Given the description of an element on the screen output the (x, y) to click on. 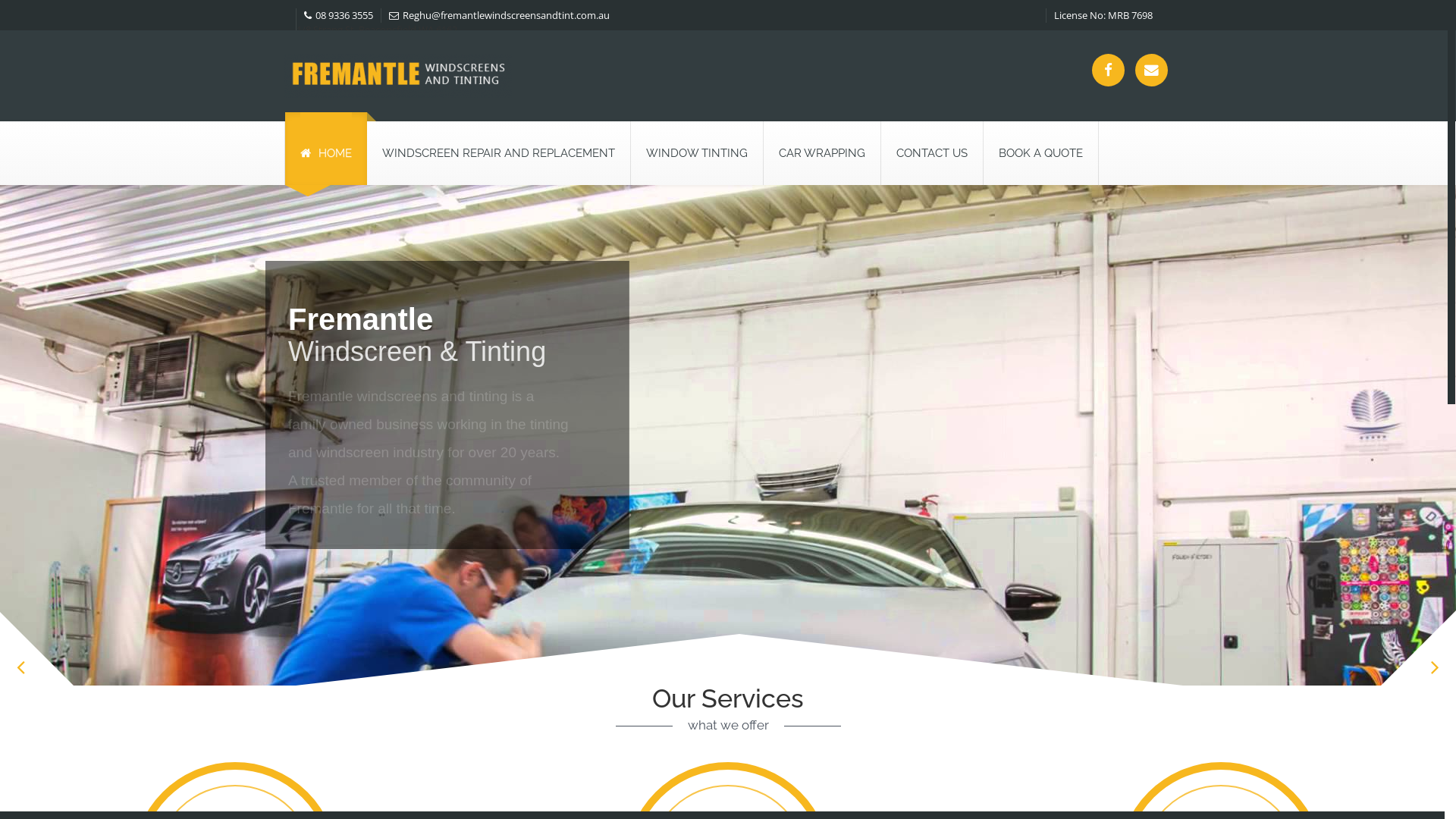
License No: MRB 7698 Element type: text (1103, 14)
CONTACT US Element type: text (931, 153)
WINDSCREEN REPAIR AND REPLACEMENT Element type: text (498, 153)
E-mail Element type: hover (1151, 69)
WINDOW TINTING Element type: text (696, 153)
HOME Element type: text (326, 148)
BOOK A QUOTE Element type: text (1040, 153)
Reghu@fremantlewindscreensandtint.com.au Element type: text (499, 14)
CAR WRAPPING Element type: text (821, 153)
08 9336 3555 Element type: text (338, 14)
Facebook Element type: hover (1108, 69)
